Given the description of an element on the screen output the (x, y) to click on. 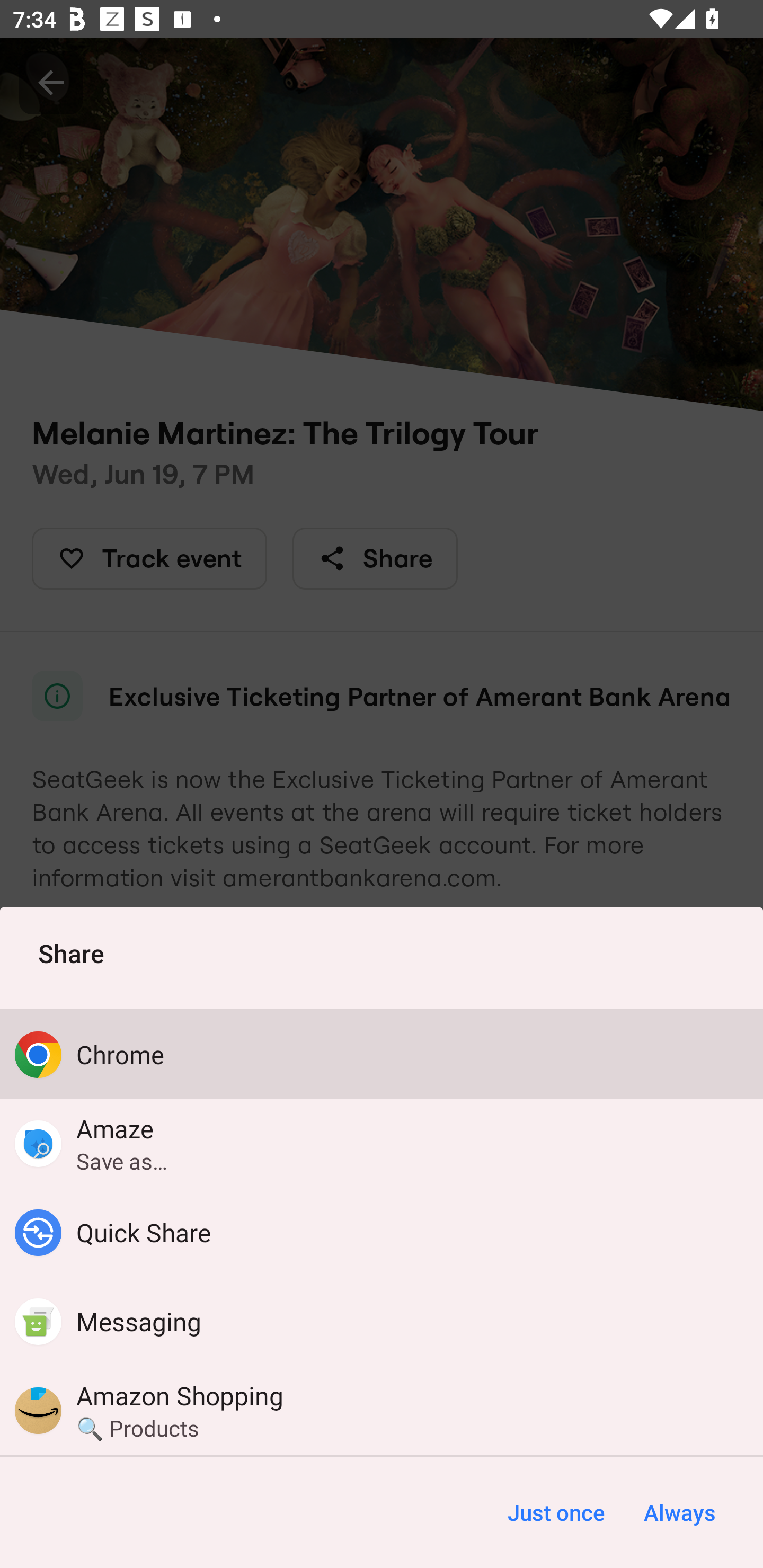
Chrome (381, 1054)
Amaze Save as… (381, 1143)
Quick Share (381, 1232)
Messaging (381, 1321)
Amazon Shopping 🔍 Products (381, 1410)
Just once (556, 1512)
Always (679, 1512)
